Given the description of an element on the screen output the (x, y) to click on. 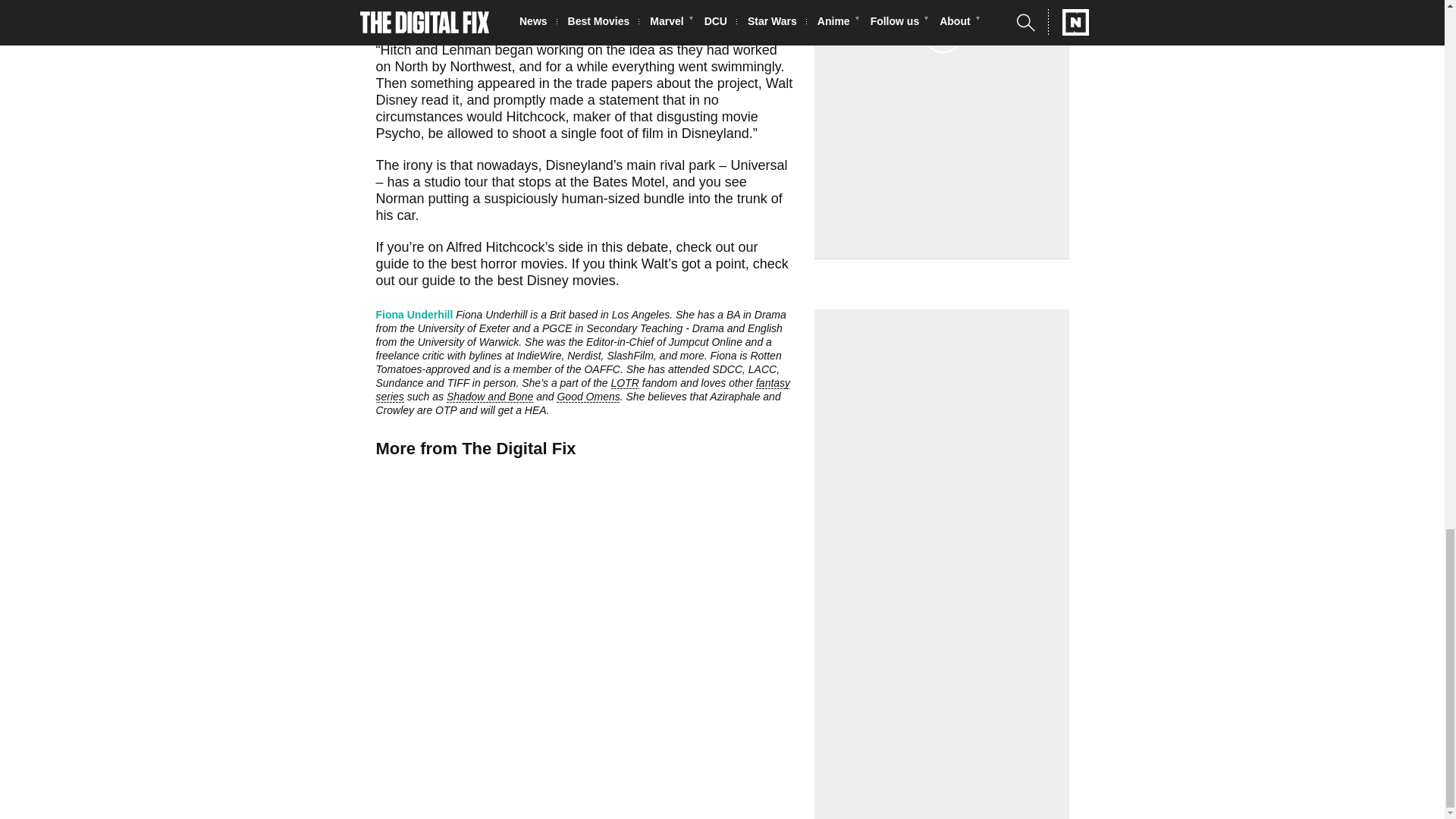
Disney (396, 99)
